Given the description of an element on the screen output the (x, y) to click on. 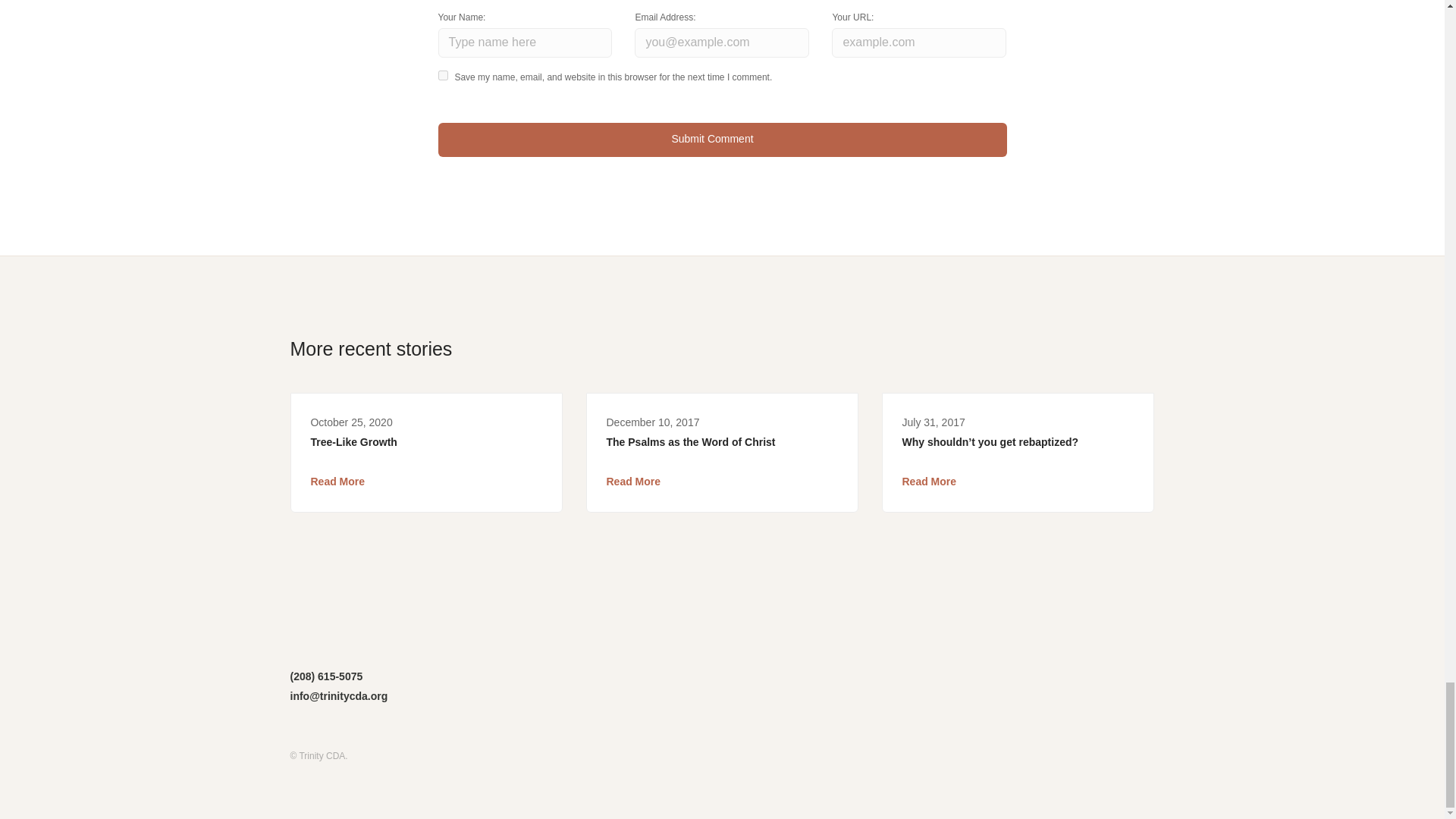
yes (443, 75)
Submit Comment (722, 140)
